Given the description of an element on the screen output the (x, y) to click on. 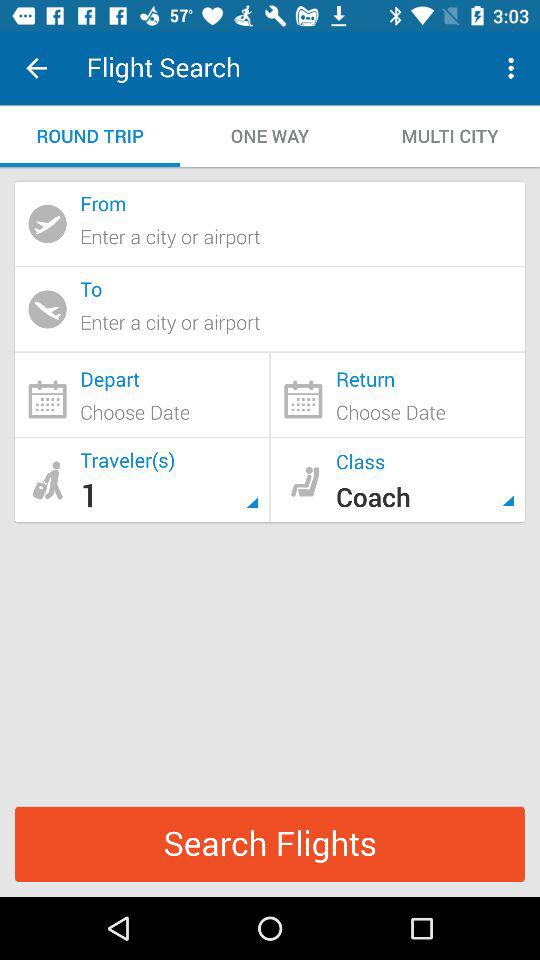
open item next to the flight search icon (36, 68)
